Given the description of an element on the screen output the (x, y) to click on. 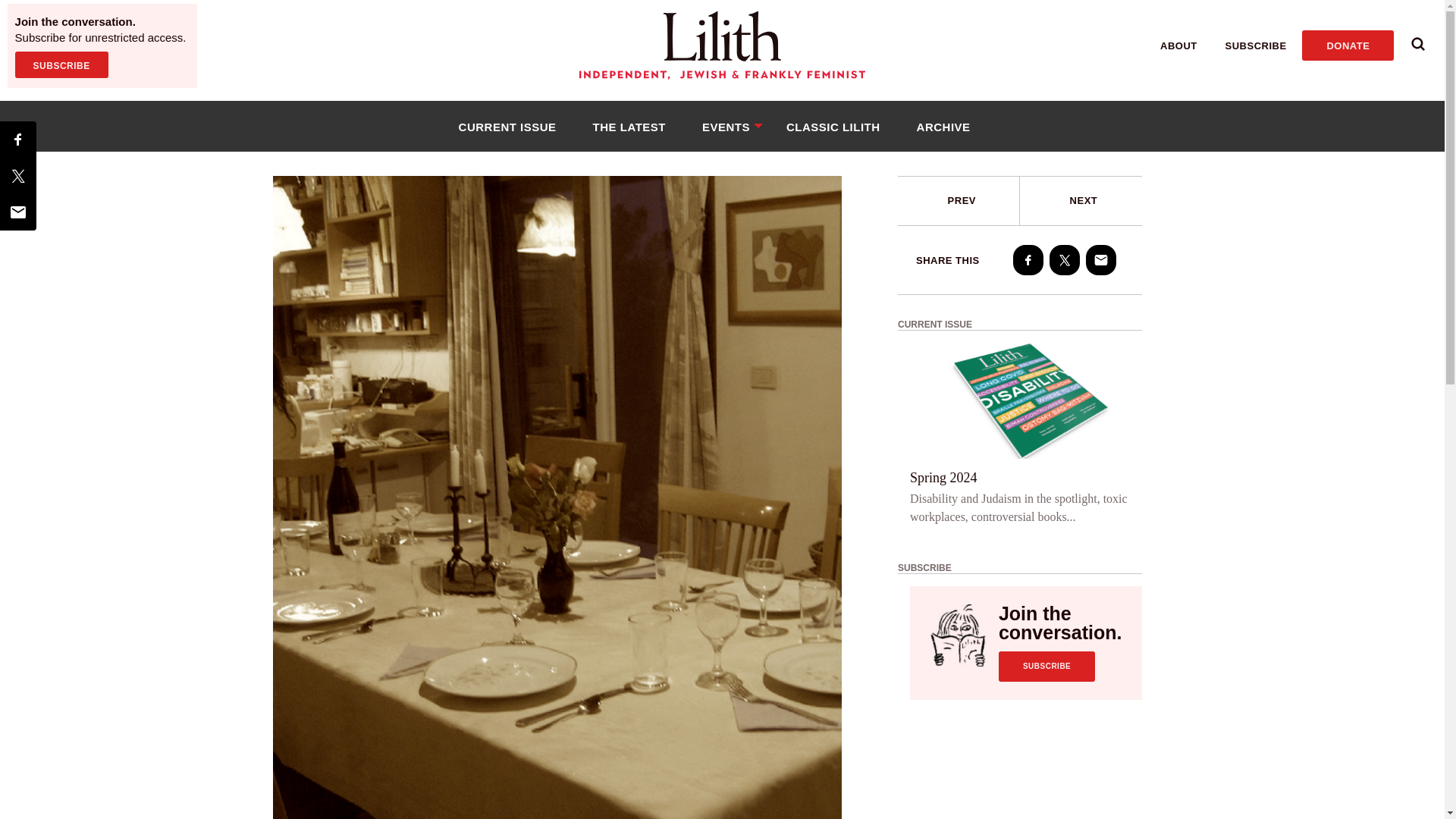
CLASSIC LILITH (833, 126)
CURRENT ISSUE (507, 126)
THE LATEST (628, 126)
SUBSCRIBE (60, 64)
NEXT (1080, 200)
EVENTS (726, 126)
SUBSCRIBE (1255, 45)
SUBSCRIBE (1046, 666)
ABOUT (1178, 45)
Spring 2024 (943, 477)
DONATE (1347, 45)
ARCHIVE (943, 126)
PREV (959, 200)
NEXT (1083, 200)
PREV (961, 200)
